Given the description of an element on the screen output the (x, y) to click on. 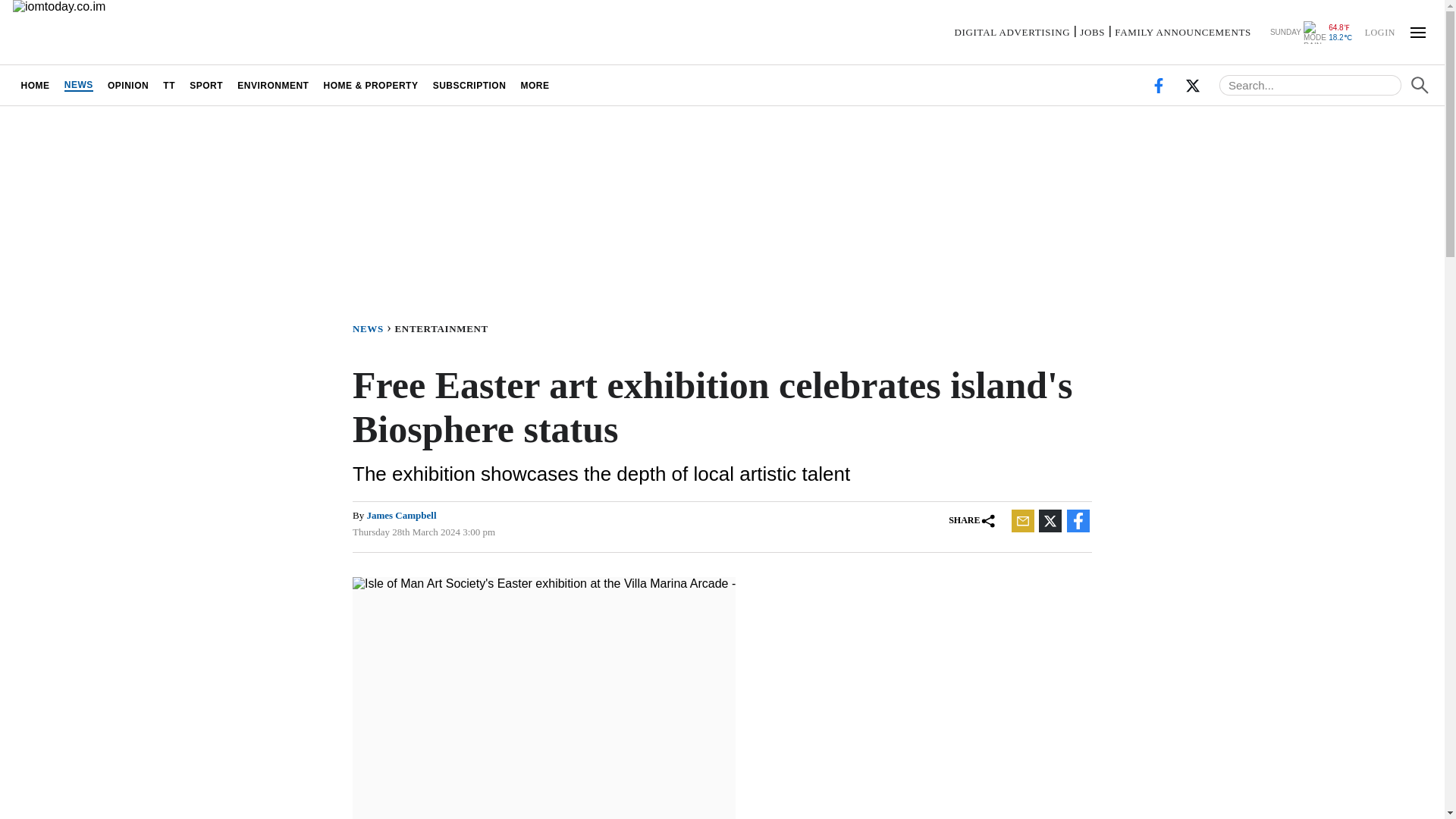
SUBSCRIPTION (469, 85)
MORE (534, 85)
LOGIN (1379, 31)
James Campbell (400, 514)
HOME (34, 85)
NEWS (78, 85)
OPINION (127, 85)
ENTERTAINMENT (444, 328)
SPORT (206, 85)
FAMILY ANNOUNCEMENTS (1182, 32)
